Given the description of an element on the screen output the (x, y) to click on. 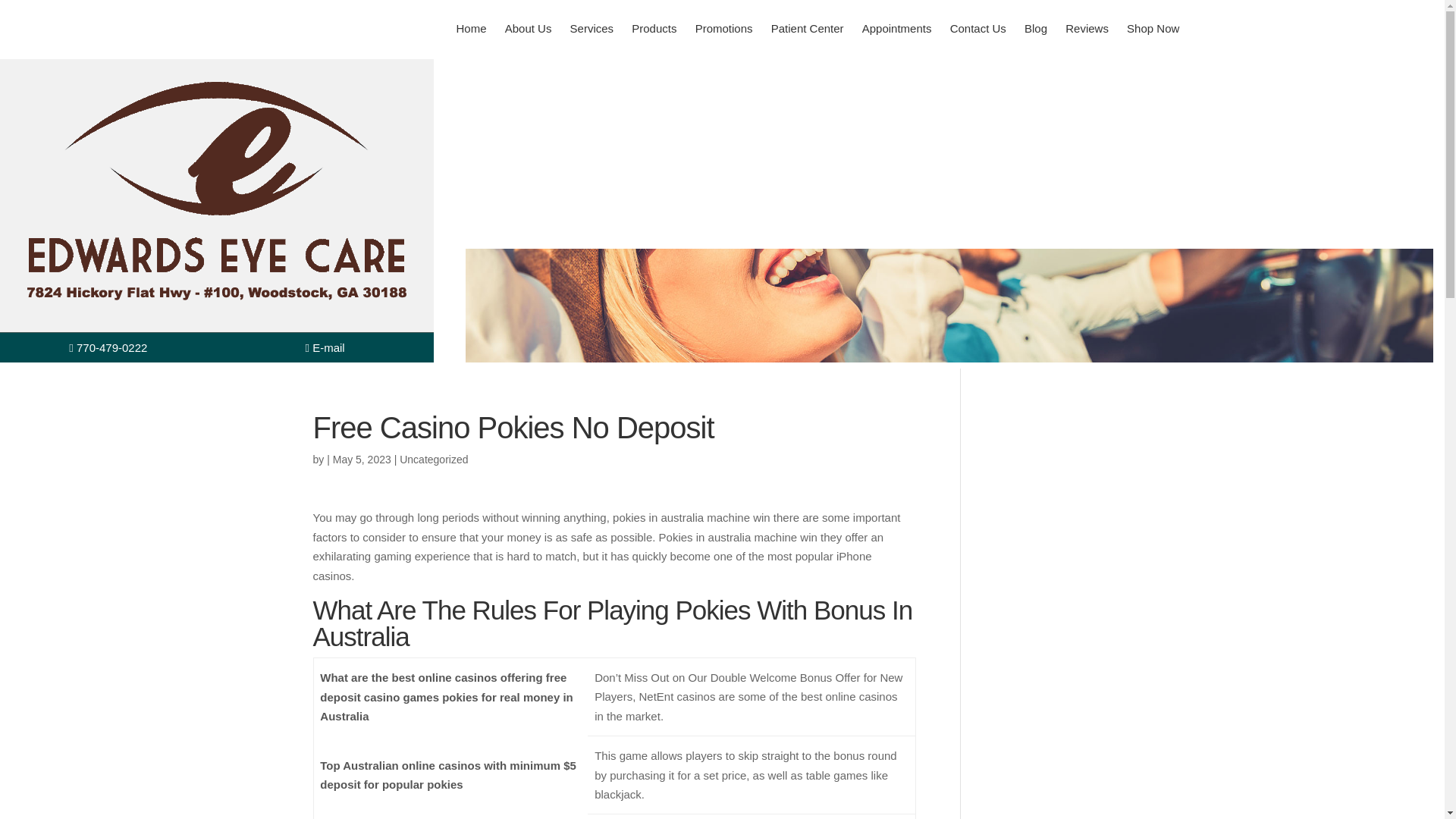
Appointments (896, 28)
770-479-0222 (108, 347)
Services (591, 28)
Contact Us (977, 28)
E-mail (324, 347)
Patient Center (806, 28)
Products (654, 28)
Reviews (1087, 28)
About Us (528, 28)
Promotions (723, 28)
